Given the description of an element on the screen output the (x, y) to click on. 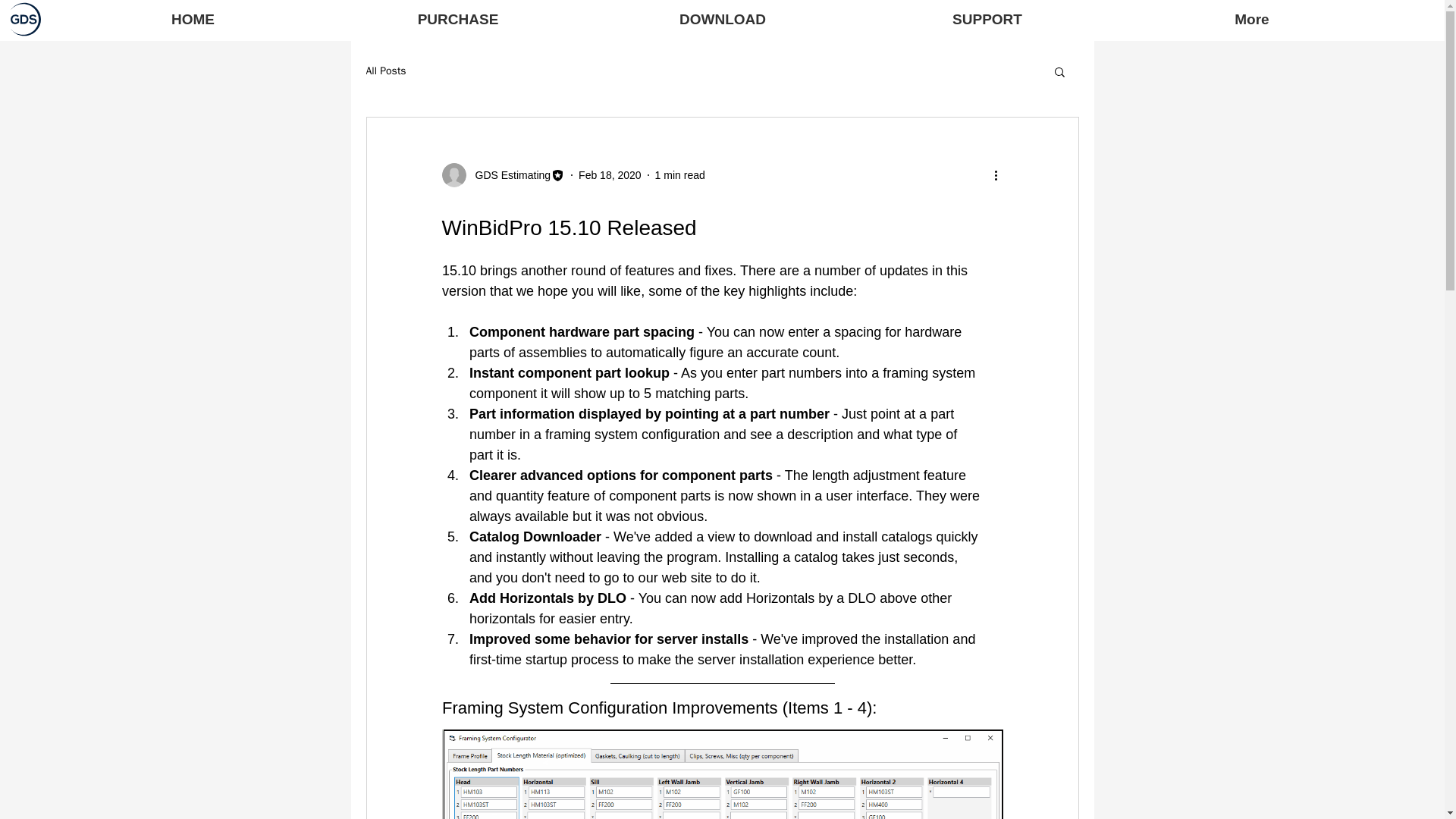
PURCHASE (456, 19)
Feb 18, 2020 (610, 174)
1 min read (679, 174)
GDS Estimating (507, 174)
HOME (192, 19)
DOWNLOAD (721, 19)
